Given the description of an element on the screen output the (x, y) to click on. 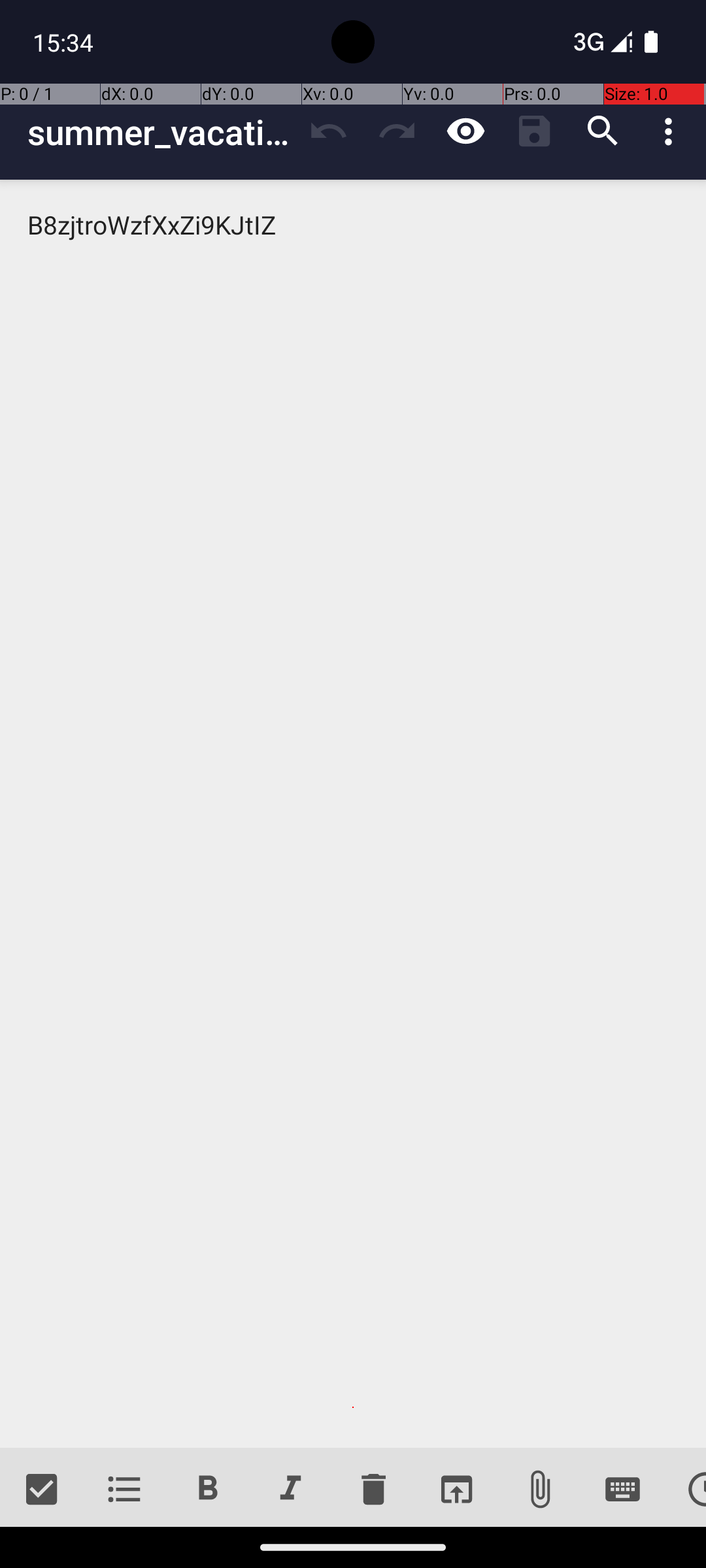
summer_vacation_plans_HRXn Element type: android.widget.TextView (160, 131)
B8zjtroWzfXxZi9KJtIZ
 Element type: android.widget.EditText (353, 813)
